Given the description of an element on the screen output the (x, y) to click on. 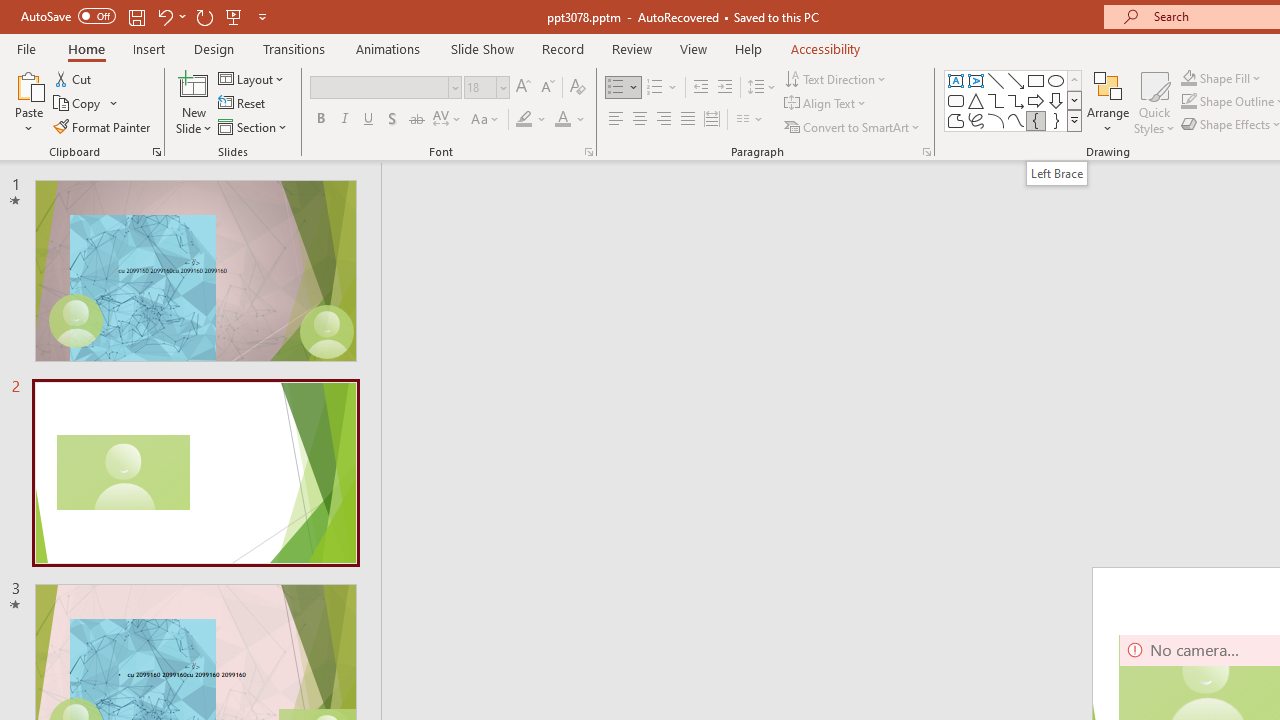
Justify (687, 119)
Strikethrough (416, 119)
Connector: Elbow Arrow (1016, 100)
Format Painter (103, 126)
Text Highlight Color (531, 119)
Open (502, 87)
Increase Font Size (522, 87)
Text Highlight Color Yellow (524, 119)
Paragraph... (926, 151)
Line Arrow (1016, 80)
Accessibility (825, 48)
Slide (195, 473)
